Given the description of an element on the screen output the (x, y) to click on. 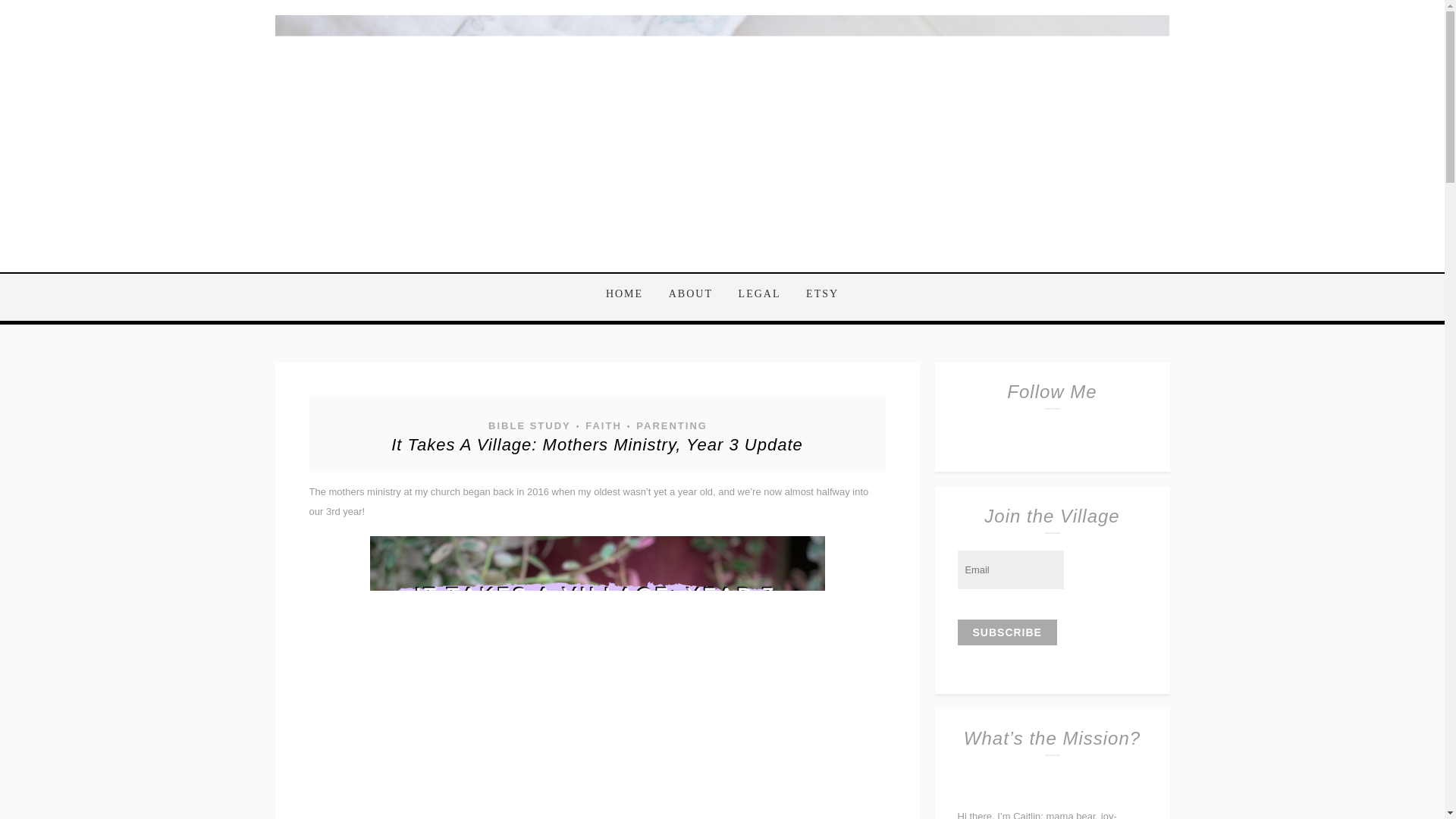
It Takes A Village: Mothers Ministry, Year 3 Update (597, 444)
HOME (629, 294)
Subscribe (1006, 632)
FAITH (602, 425)
PARENTING (670, 425)
Permanent (597, 444)
LEGAL (759, 294)
ETSY (816, 294)
BIBLE STUDY (528, 425)
ABOUT (690, 294)
